Given the description of an element on the screen output the (x, y) to click on. 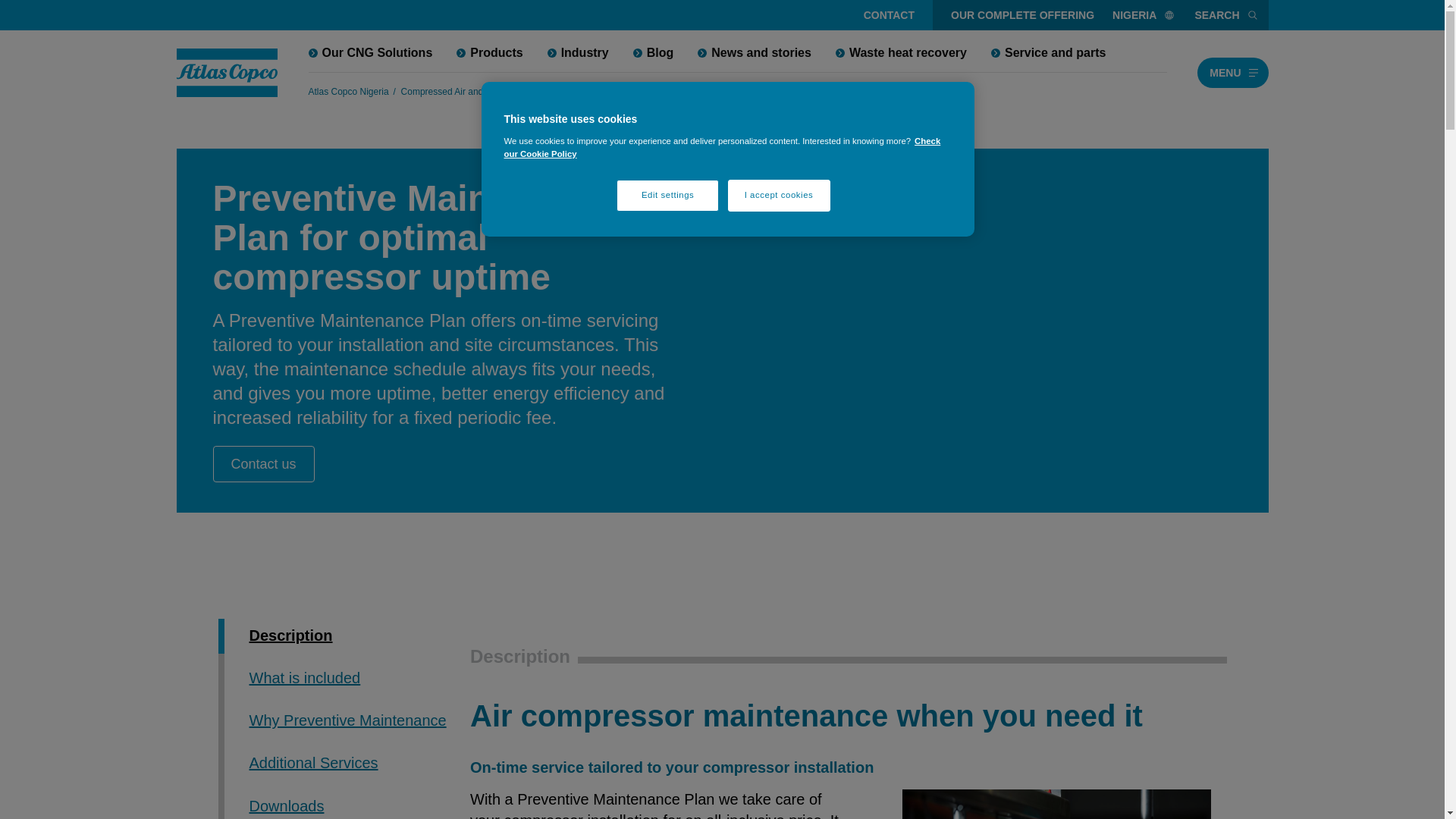
Compressed Air and Gas solutions (471, 91)
AtlasCopco Logo (227, 72)
News and stories (754, 52)
OUR COMPLETE OFFERING (1022, 15)
Service and parts (1048, 52)
NIGERIA (1144, 15)
Service and parts (588, 91)
Air compressor service plan (692, 91)
Blog (653, 52)
Atlas Copco Nigeria (347, 91)
CONTACT (888, 15)
MENU (1232, 72)
Products (489, 52)
SEARCH (1226, 15)
